Given the description of an element on the screen output the (x, y) to click on. 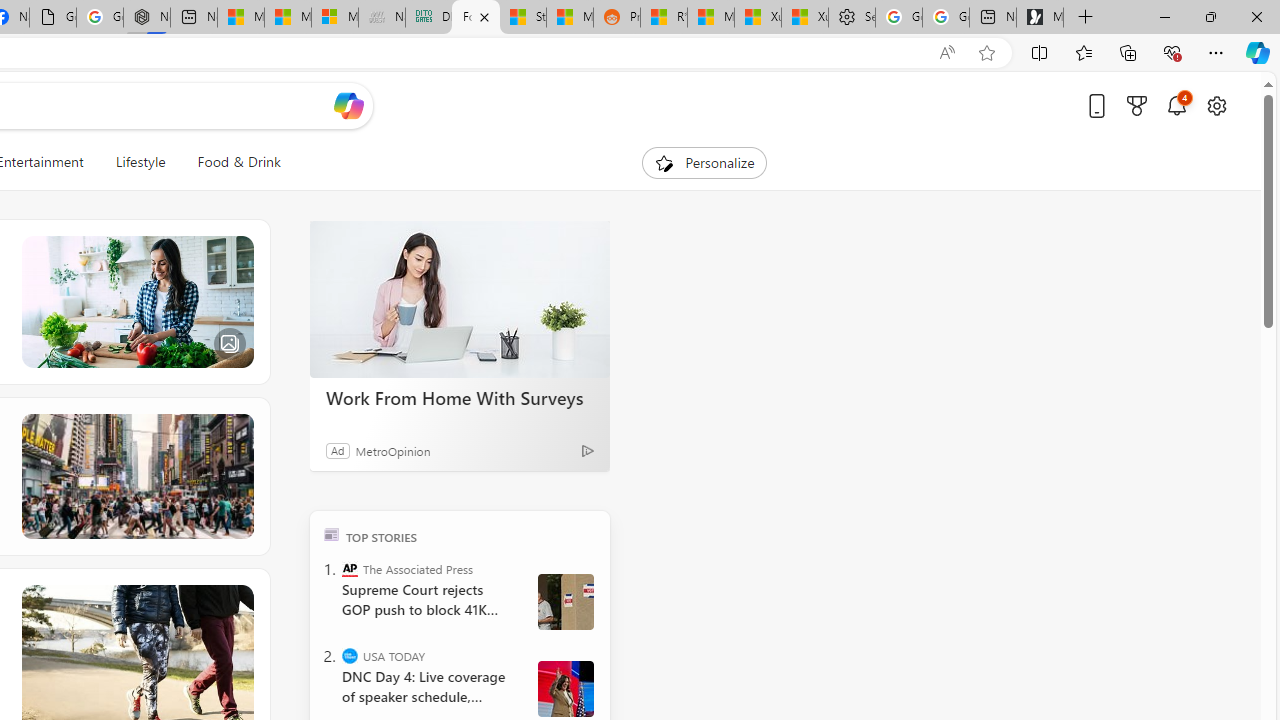
Food & Drink (239, 162)
Navy Quest (381, 17)
Google Analytics Opt-out Browser Add-on Download Page (52, 17)
Work From Home With Surveys (459, 299)
Nordace - Nordace Siena Is Not An Ordinary Backpack (147, 17)
The Associated Press (349, 568)
Microsoft rewards (1137, 105)
To get missing image descriptions, open the context menu. (664, 162)
Stocks - MSN (523, 17)
